Given the description of an element on the screen output the (x, y) to click on. 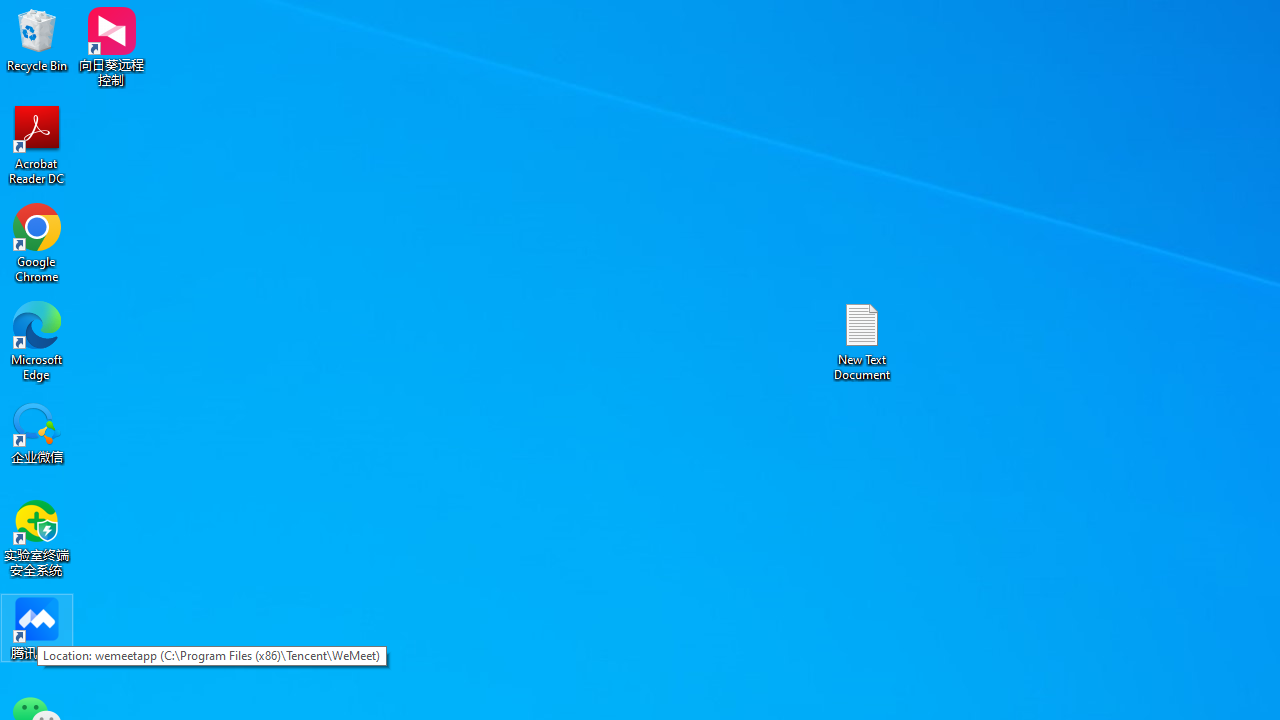
Acrobat Reader DC (37, 144)
Google Chrome (37, 242)
Recycle Bin (37, 39)
Microsoft Edge (37, 340)
New Text Document (861, 340)
